Given the description of an element on the screen output the (x, y) to click on. 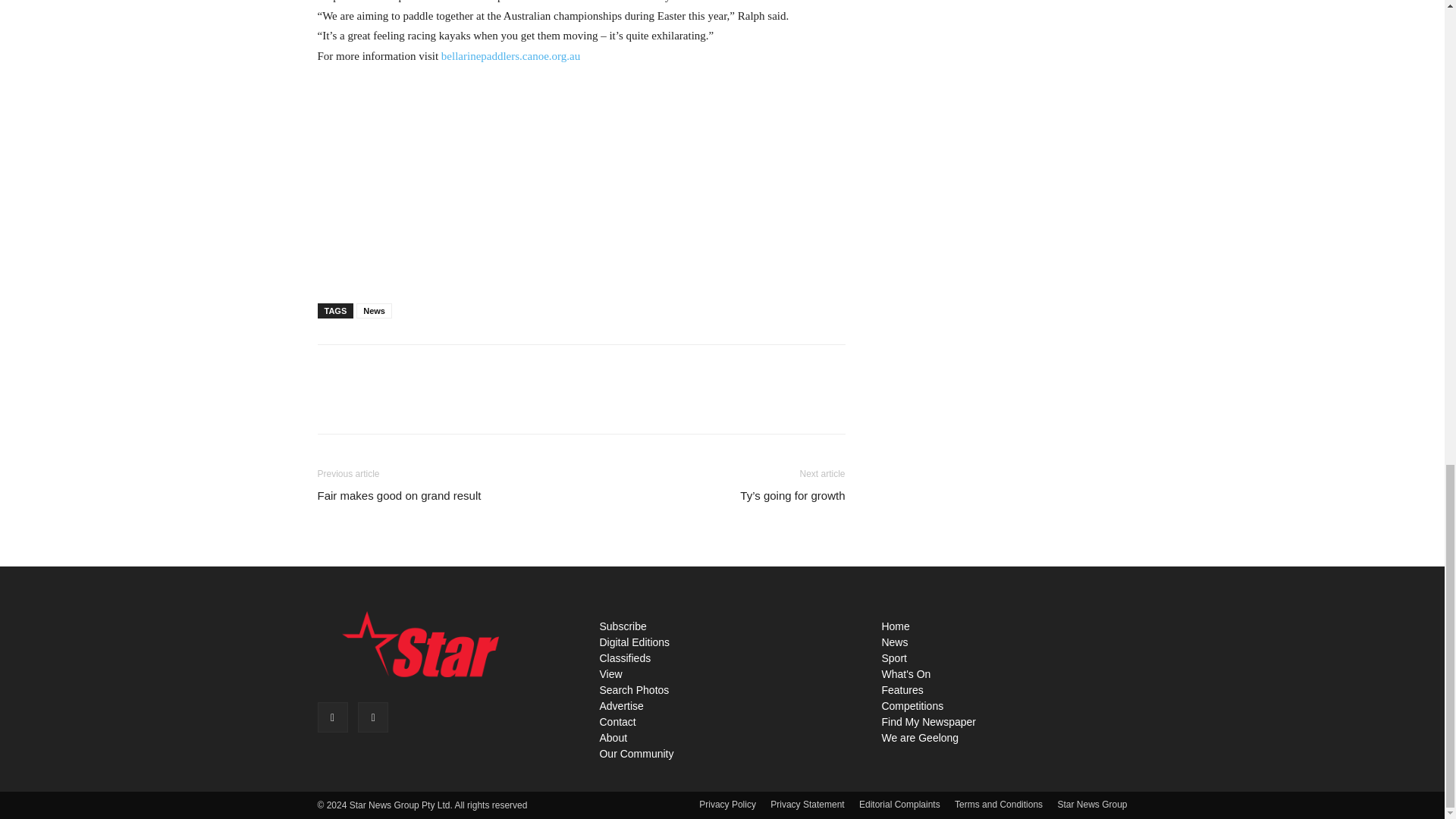
bottomFacebookLike (430, 368)
3rd party ad content (580, 180)
